Given the description of an element on the screen output the (x, y) to click on. 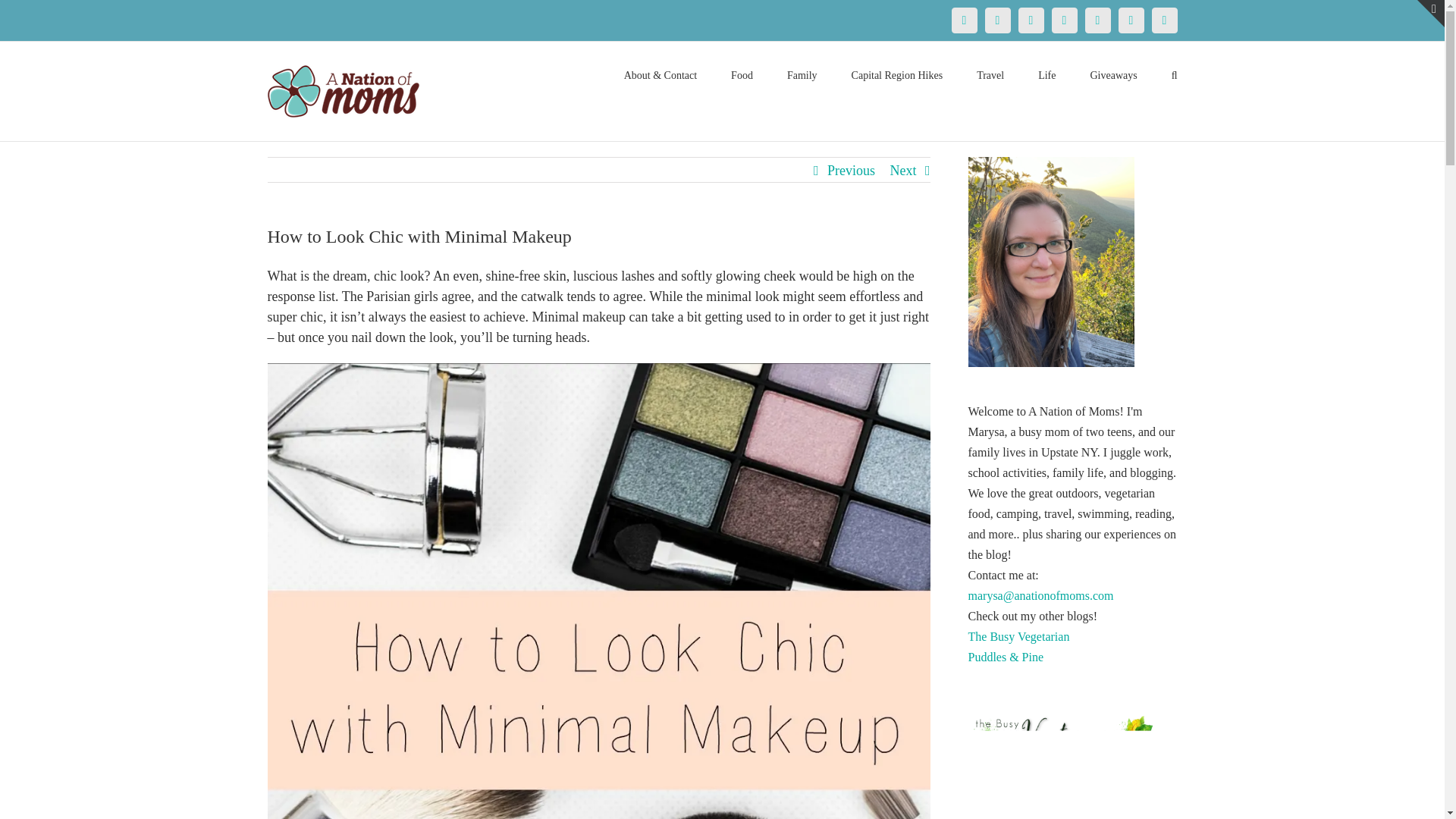
Twitter (997, 20)
Pinterest (1030, 20)
Pinterest (1030, 20)
YouTube (1096, 20)
Twitter (997, 20)
YouTube (1096, 20)
Instagram (1064, 20)
Email (1163, 20)
Facebook (963, 20)
Email (1163, 20)
